Given the description of an element on the screen output the (x, y) to click on. 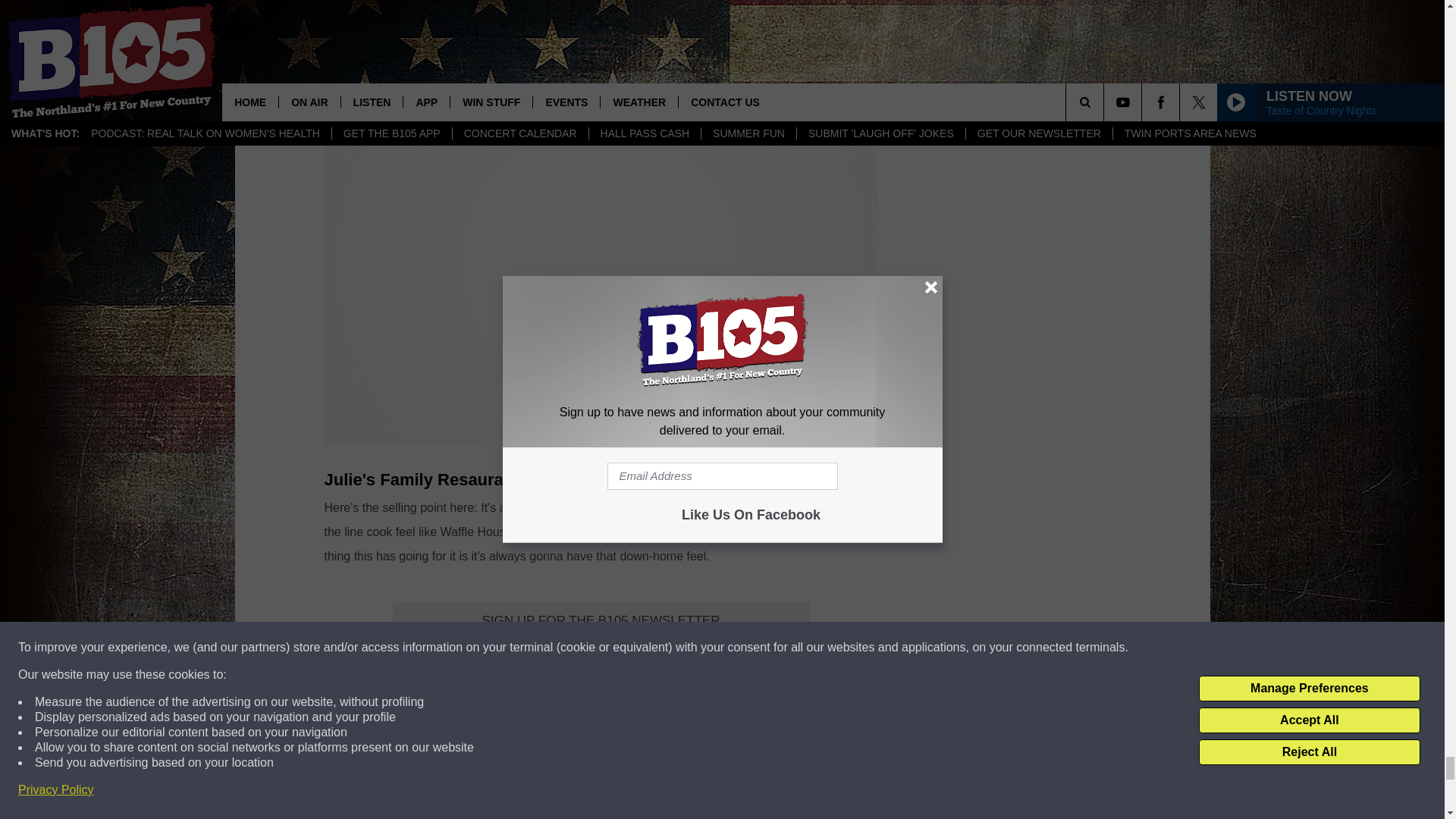
Email Address (600, 650)
